Given the description of an element on the screen output the (x, y) to click on. 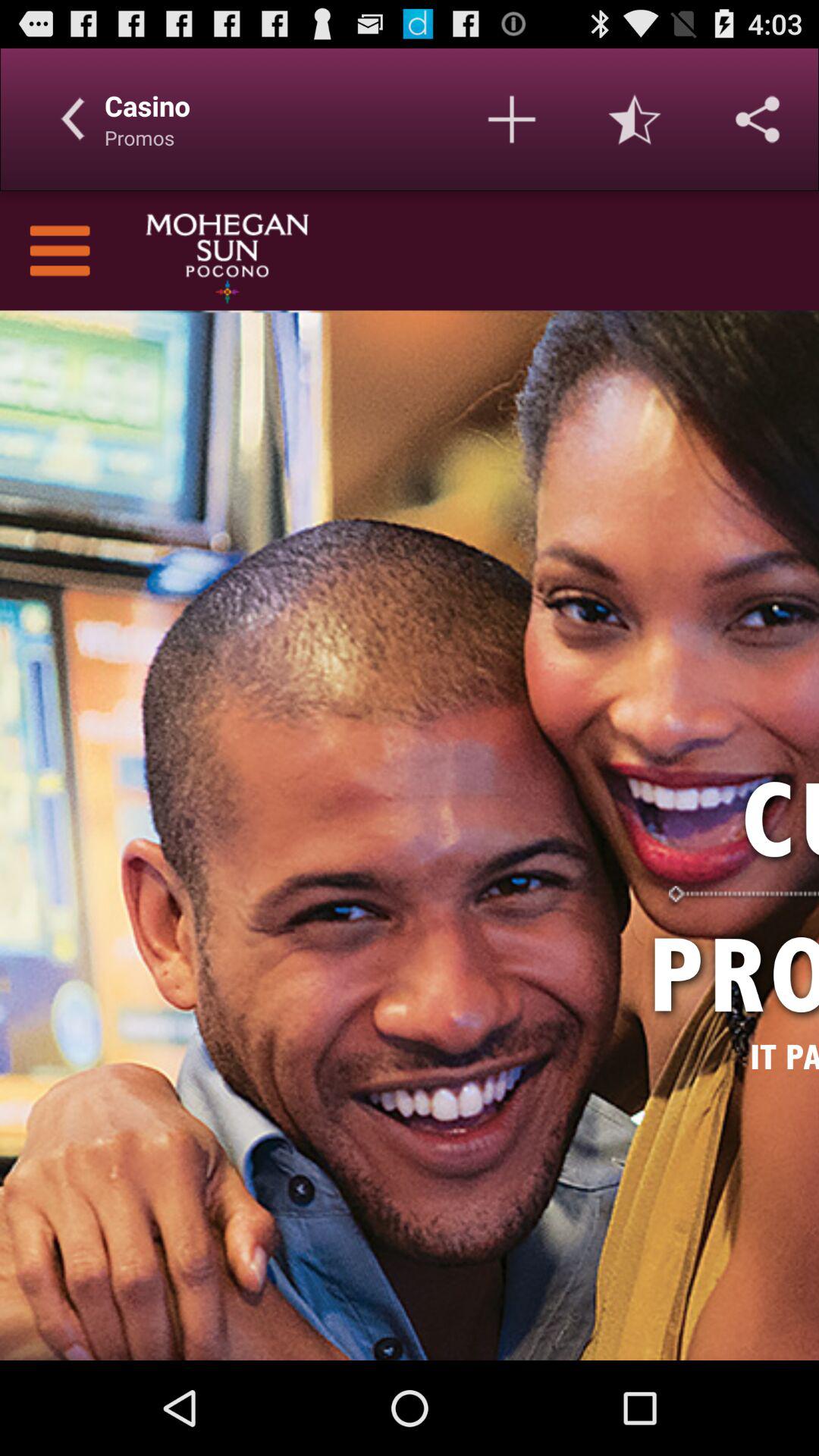
share link (757, 119)
